Given the description of an element on the screen output the (x, y) to click on. 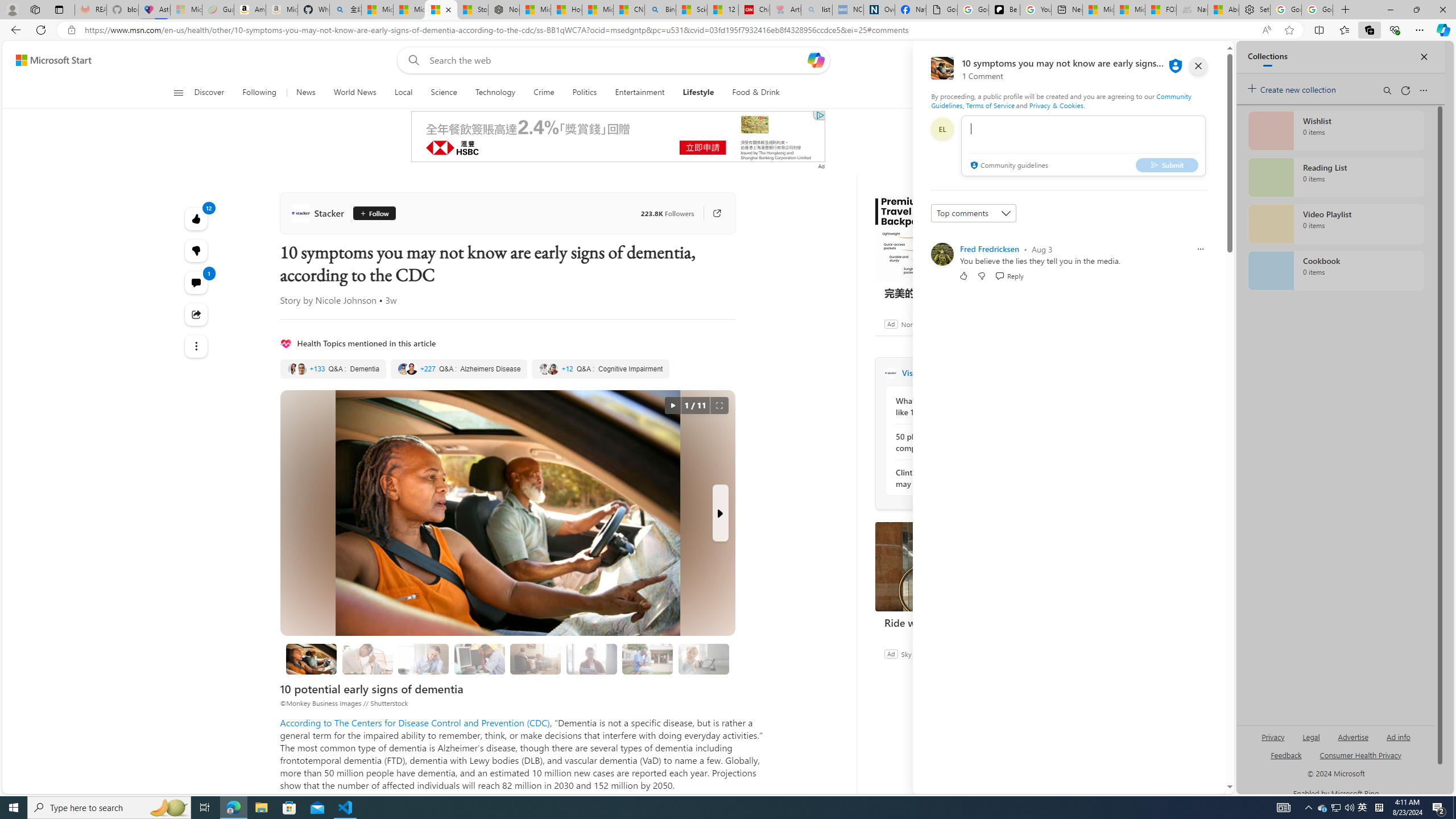
Report comment (1200, 249)
Science (443, 92)
Science (442, 92)
Skip to footer (46, 59)
Class: at-item (196, 345)
Microsoft-Report a Concern to Bing - Sleeping (185, 9)
Technology (495, 92)
Misplacing things and losing the ability to retrace steps (703, 659)
Stocks - MSN (472, 9)
